Given the description of an element on the screen output the (x, y) to click on. 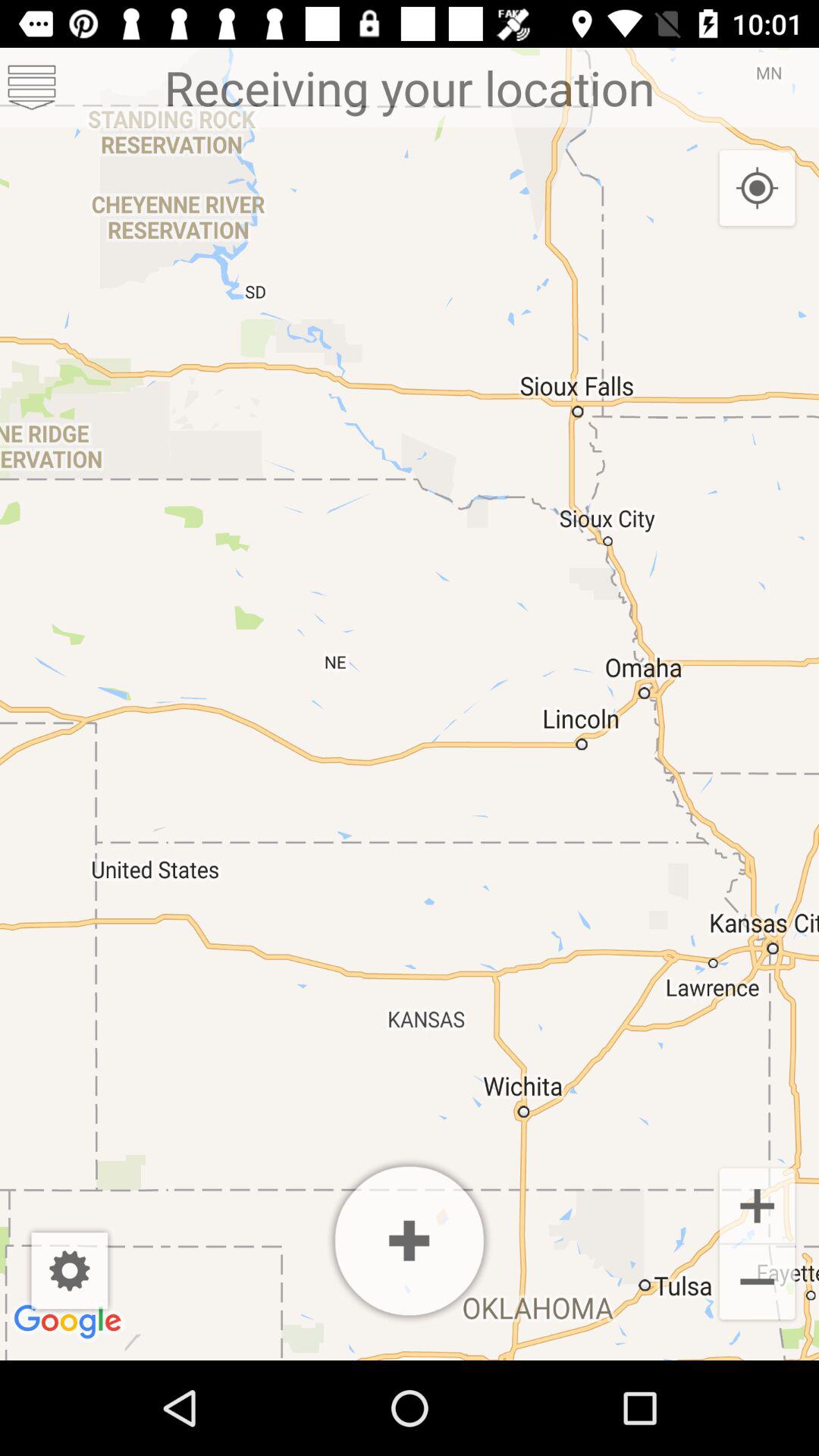
turn off icon below the receiving your location app (757, 188)
